Given the description of an element on the screen output the (x, y) to click on. 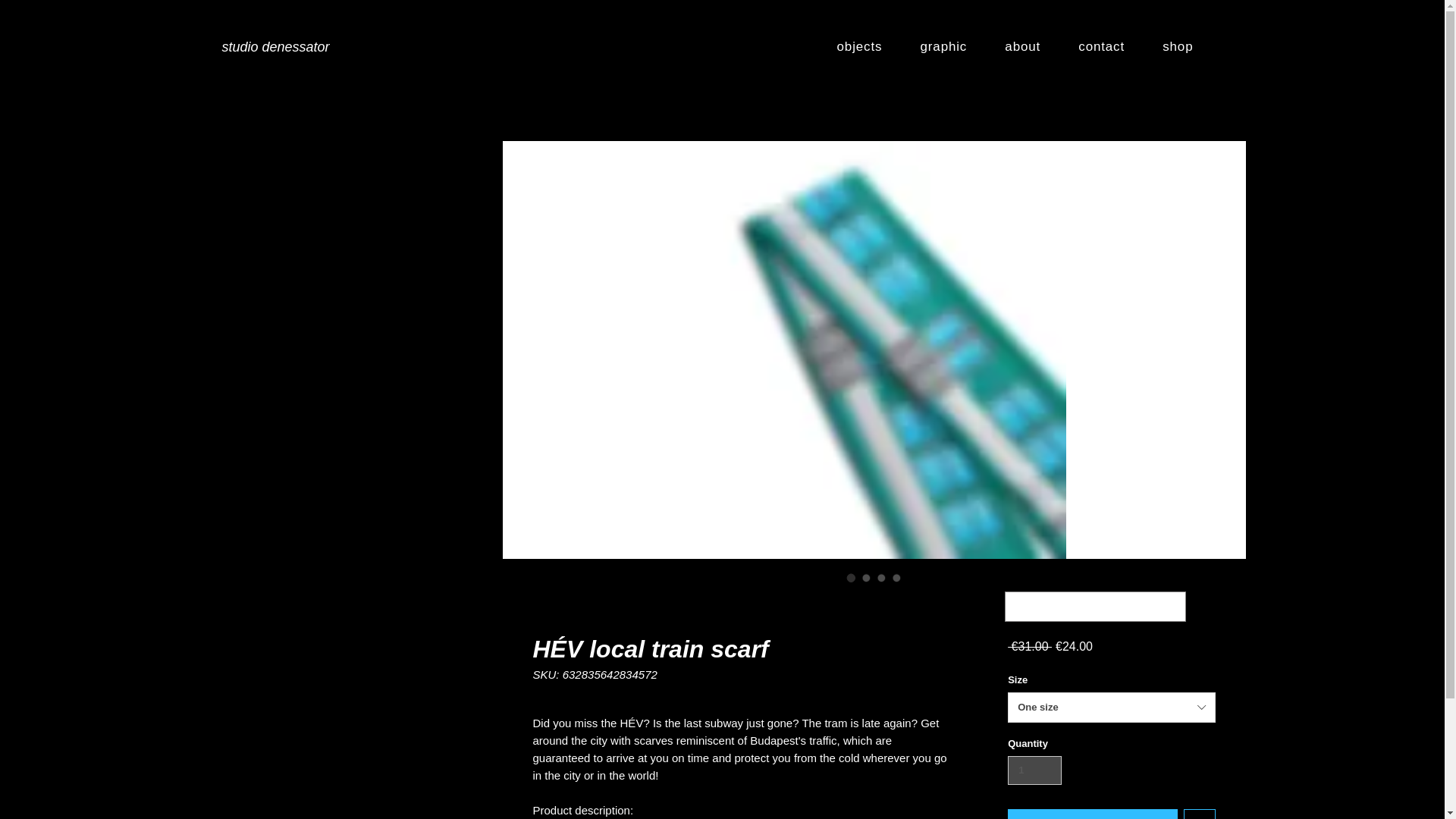
objects (859, 47)
shop (1177, 47)
about (1022, 47)
1 (1034, 769)
contact (1101, 47)
One size (1110, 707)
Add to Cart (1091, 814)
graphic (943, 47)
studio denessator (274, 47)
